Given the description of an element on the screen output the (x, y) to click on. 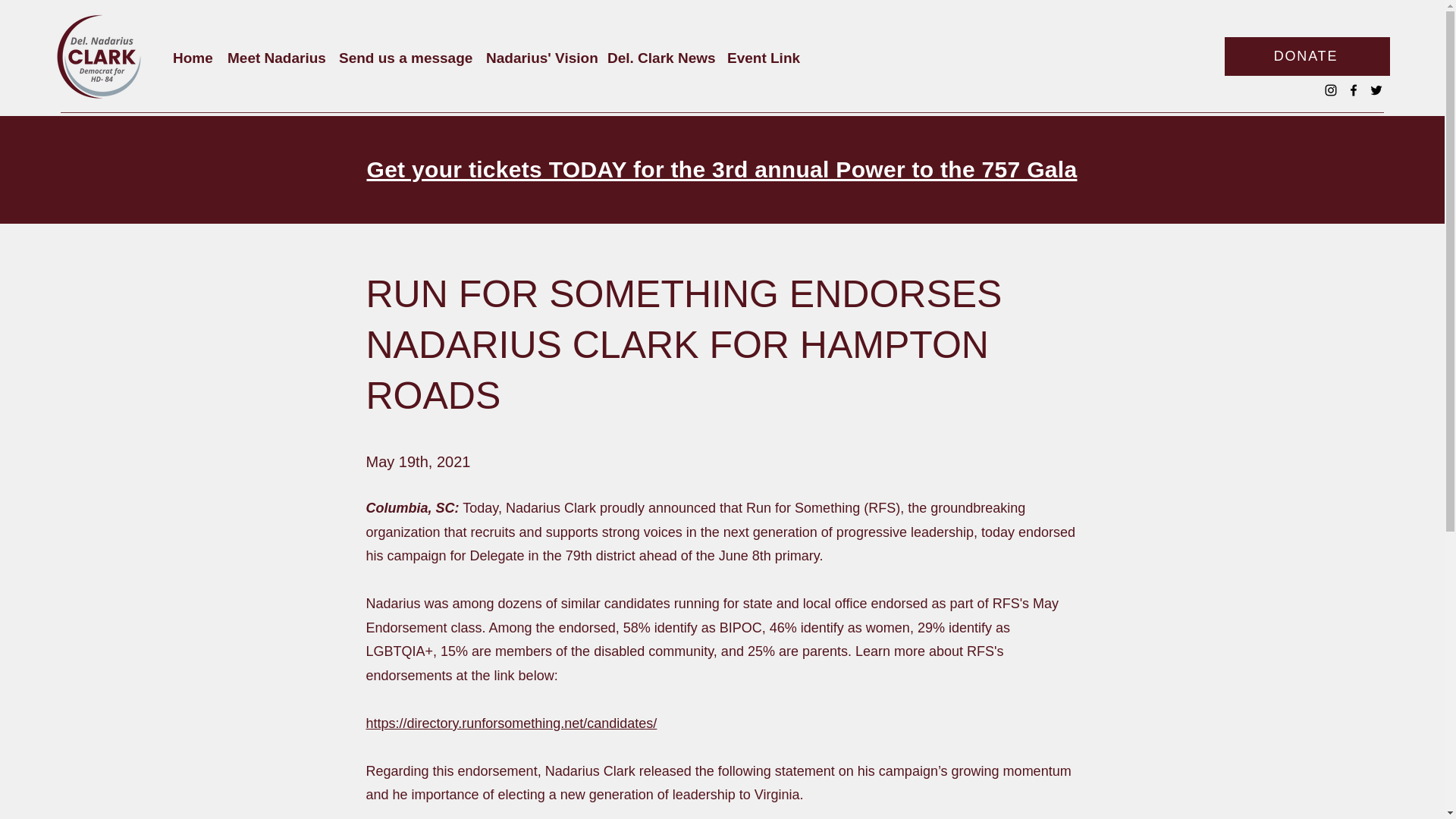
Event Link (761, 57)
Home (192, 57)
Send us a message (405, 57)
DONATE (1307, 56)
Meet Nadarius (275, 57)
Del. Clark News (659, 57)
Nadarius' Vision (539, 57)
